Given the description of an element on the screen output the (x, y) to click on. 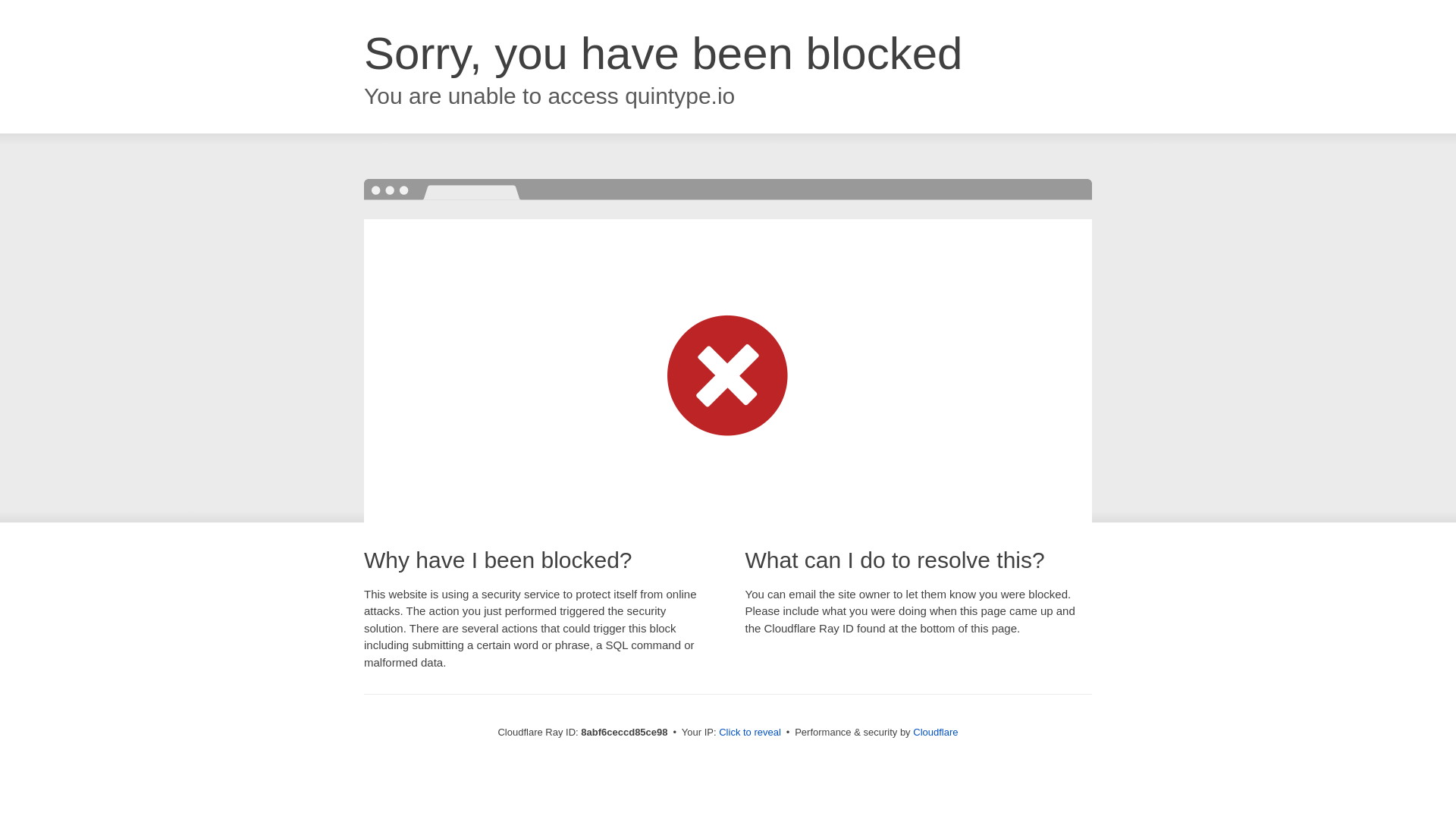
Cloudflare (935, 731)
Click to reveal (749, 732)
